Given the description of an element on the screen output the (x, y) to click on. 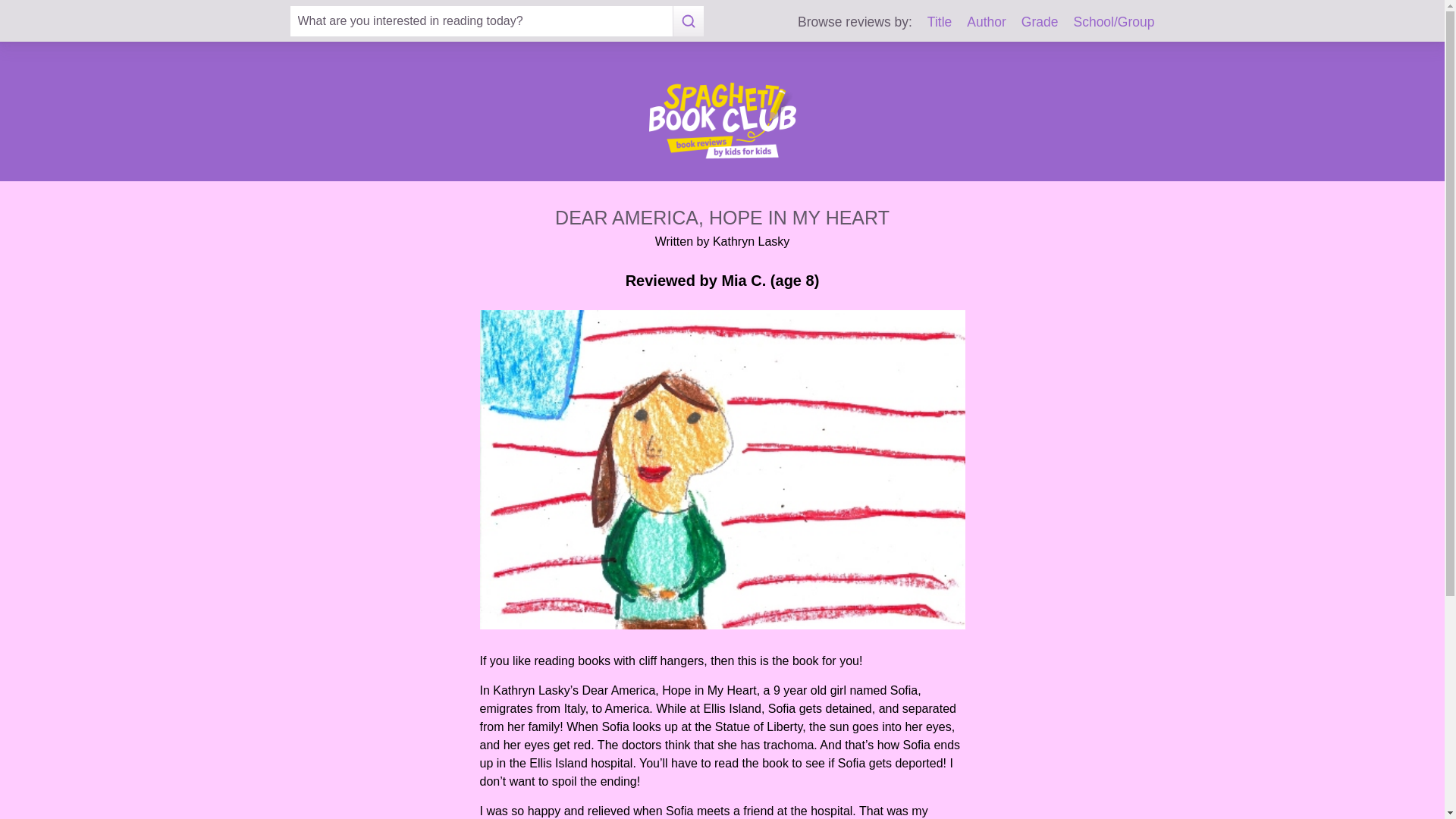
Grade (1040, 21)
Title (939, 21)
Author (986, 21)
